Given the description of an element on the screen output the (x, y) to click on. 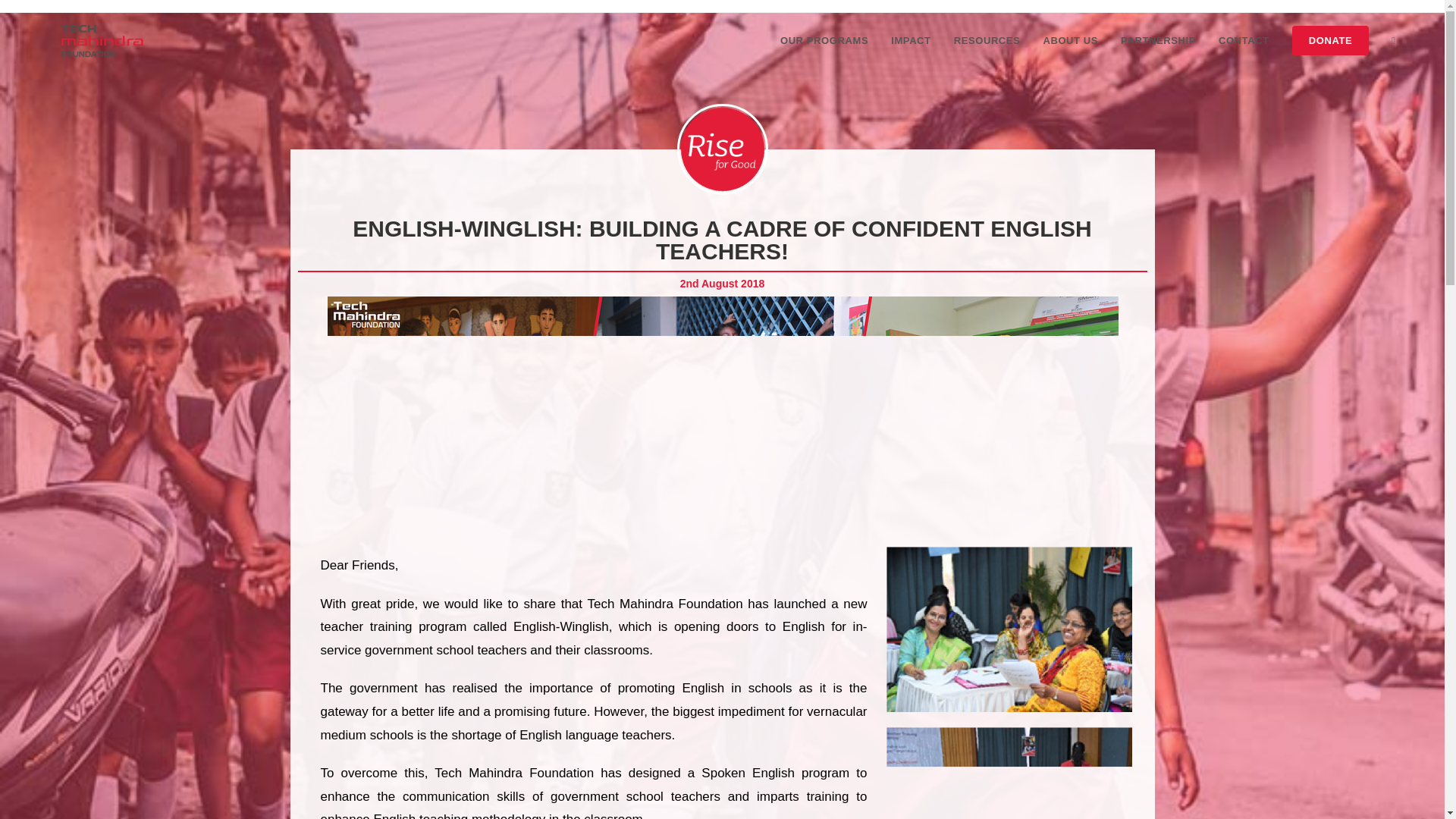
ABOUT US (1069, 40)
OUR PROGRAMS (823, 40)
IMPACT (910, 40)
RESOURCES (987, 40)
CONTACT (1244, 40)
PARTNERSHIP (1158, 40)
